Given the description of an element on the screen output the (x, y) to click on. 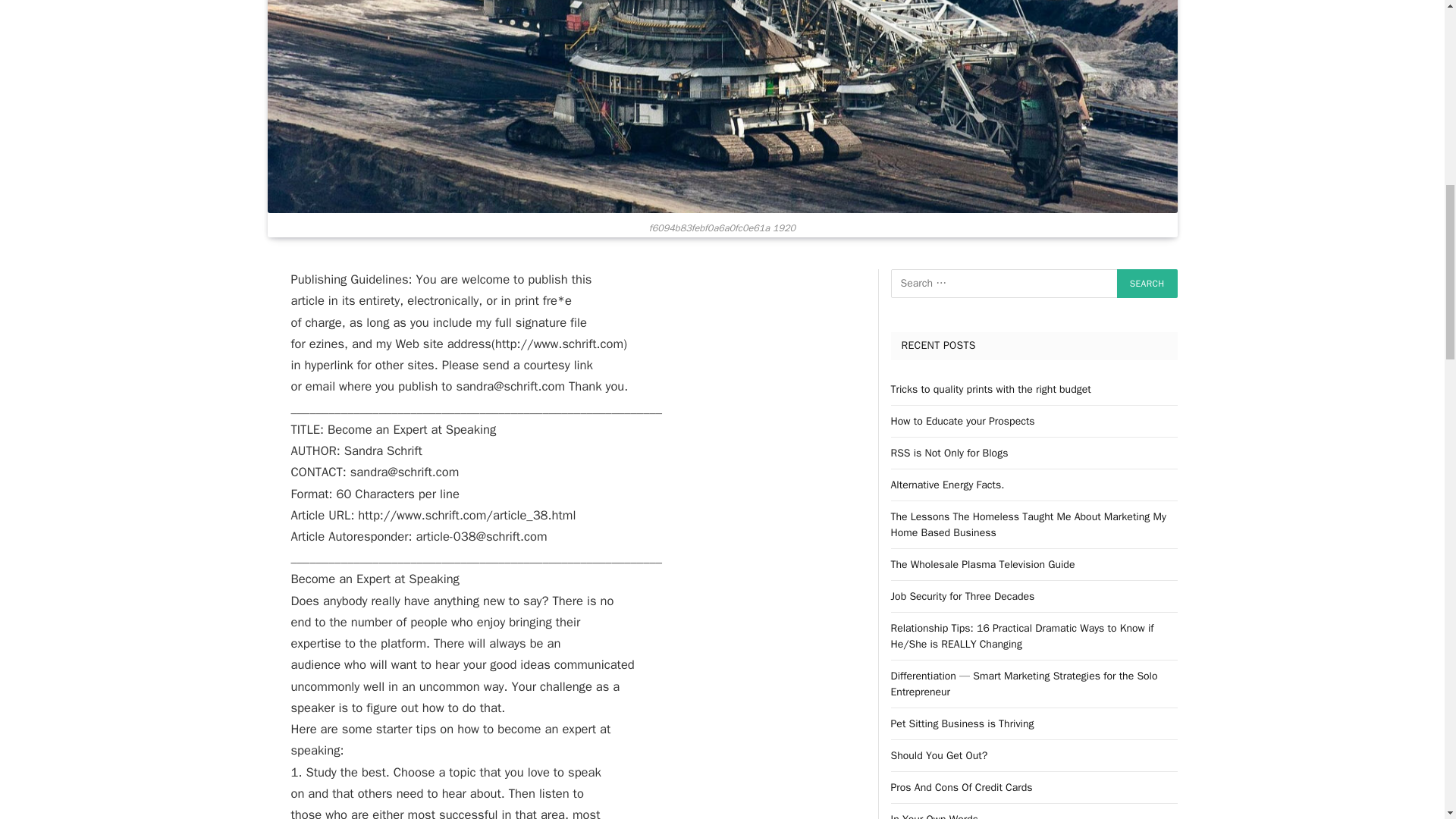
Search (1146, 283)
Search (1146, 283)
